Given the description of an element on the screen output the (x, y) to click on. 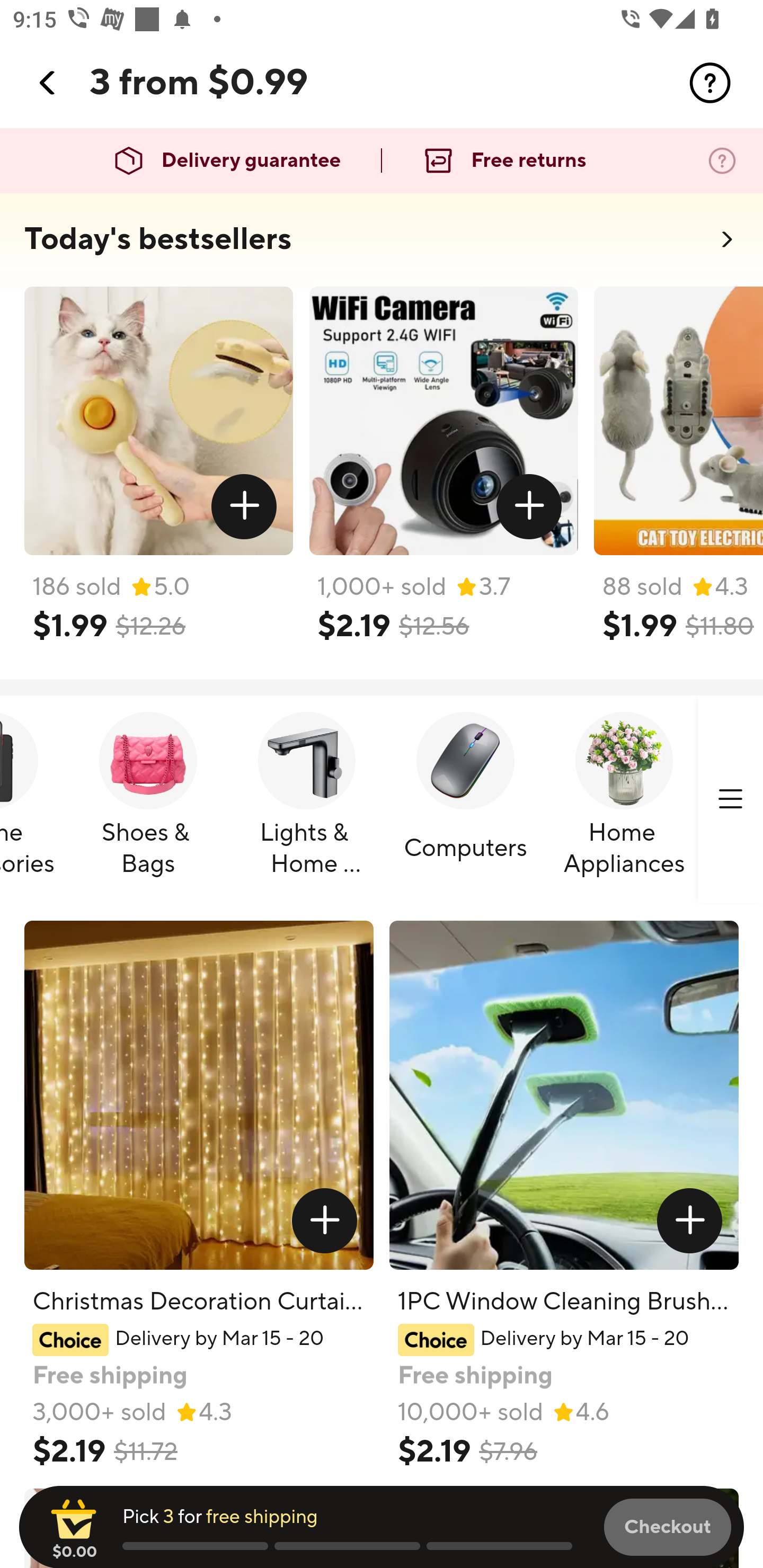
 (710, 82)
 (48, 82)
Today's bestsellers  Today's bestsellers  (381, 244)
Today's bestsellers (157, 239)
 (244, 506)
 (529, 506)
 (730, 799)
300x300.png_ Shoes & Bags (147, 800)
300x300.png_ Lights & Home Improvement (306, 800)
300x300.png_ Computers (465, 800)
300x300.png_ Home Appliances (623, 800)
 (323, 1220)
 (689, 1220)
